Given the description of an element on the screen output the (x, y) to click on. 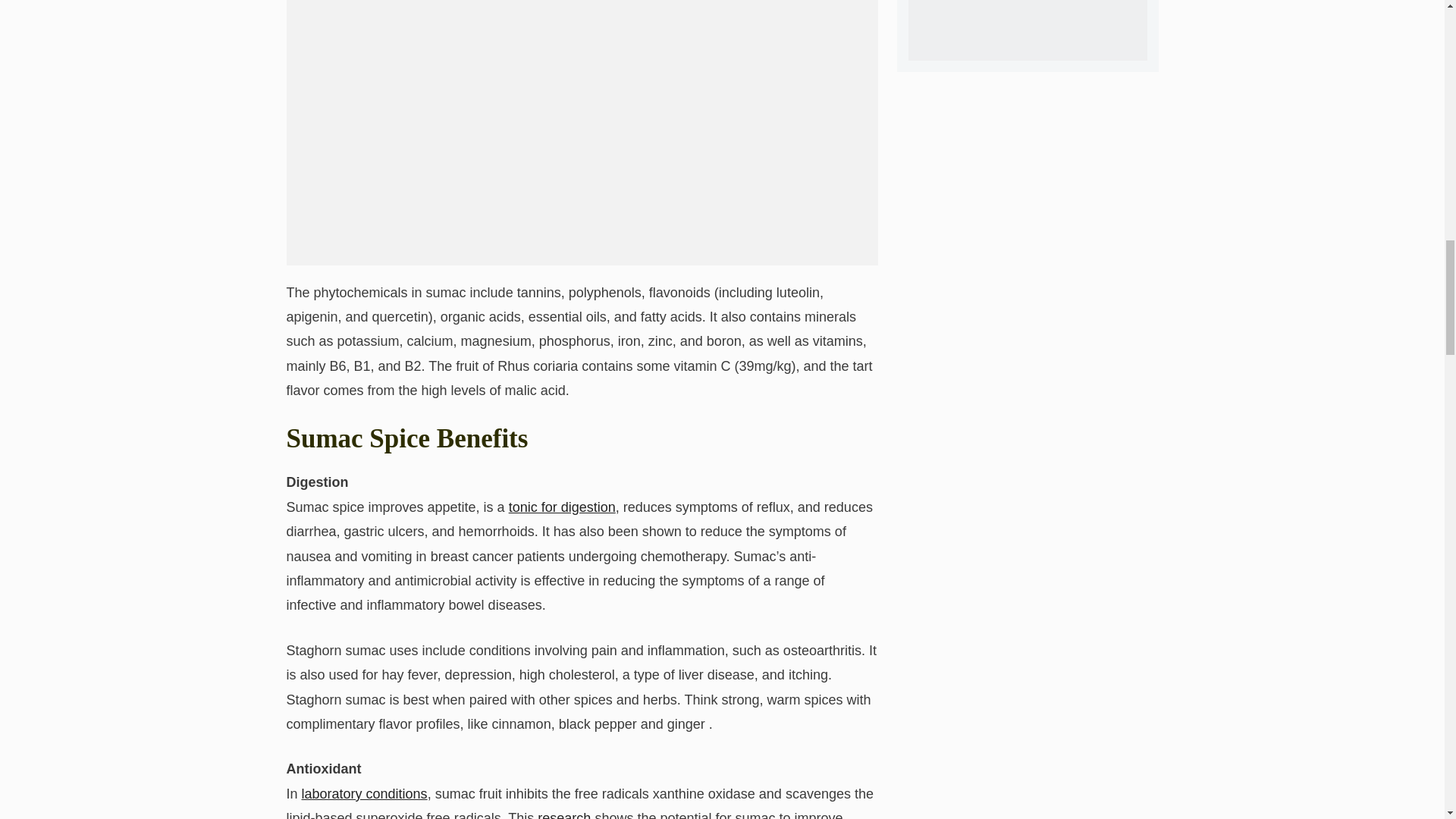
laboratory conditions (364, 793)
tonic for digestion (561, 507)
research (564, 814)
